Given the description of an element on the screen output the (x, y) to click on. 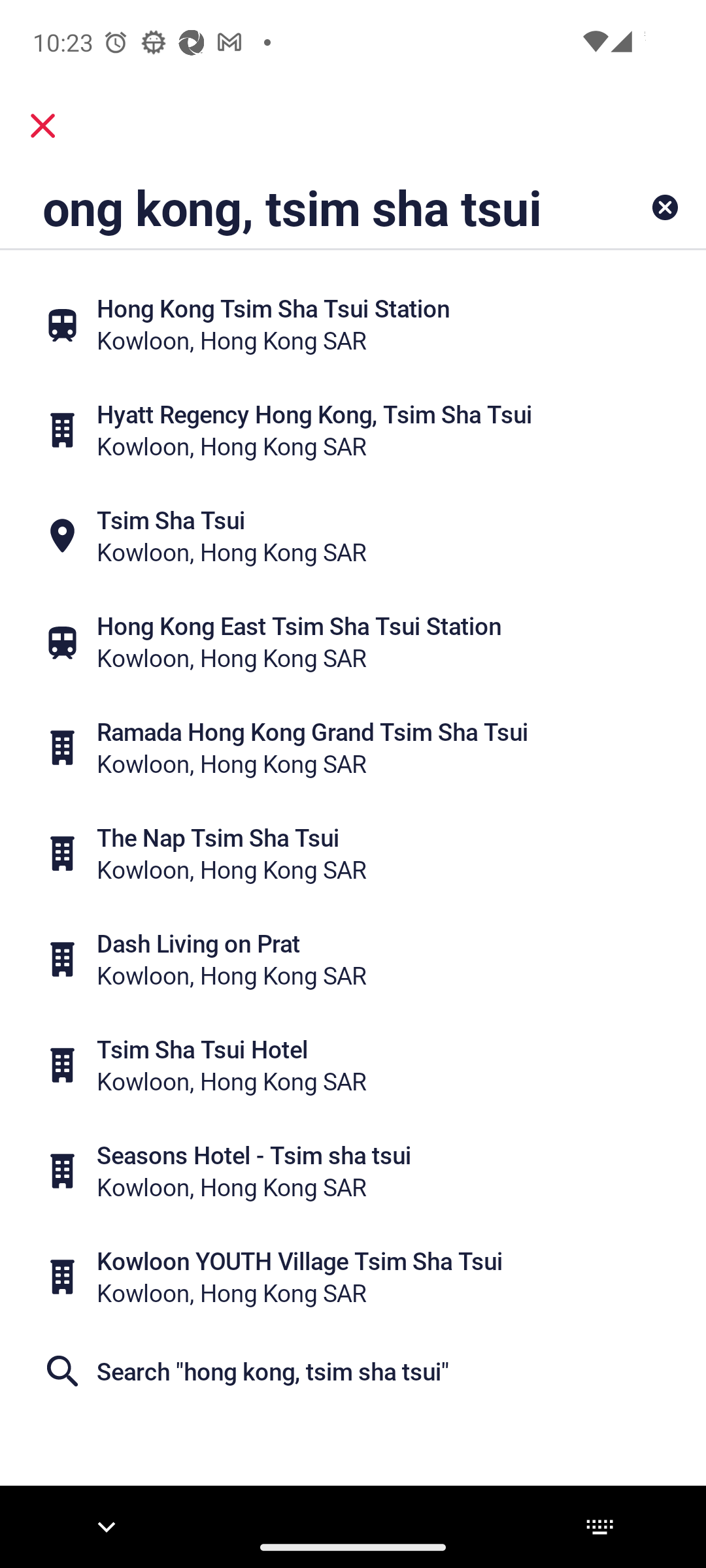
close. (43, 125)
hong kong, tsim sha tsui (290, 206)
Clear (664, 206)
Tsim Sha Tsui Kowloon, Hong Kong SAR (353, 535)
The Nap Tsim Sha Tsui Kowloon, Hong Kong SAR (353, 852)
Dash Living on Prat Kowloon, Hong Kong SAR (353, 958)
Tsim Sha Tsui Hotel Kowloon, Hong Kong SAR (353, 1064)
Search "hong kong, tsim sha tsui" (353, 1370)
